Given the description of an element on the screen output the (x, y) to click on. 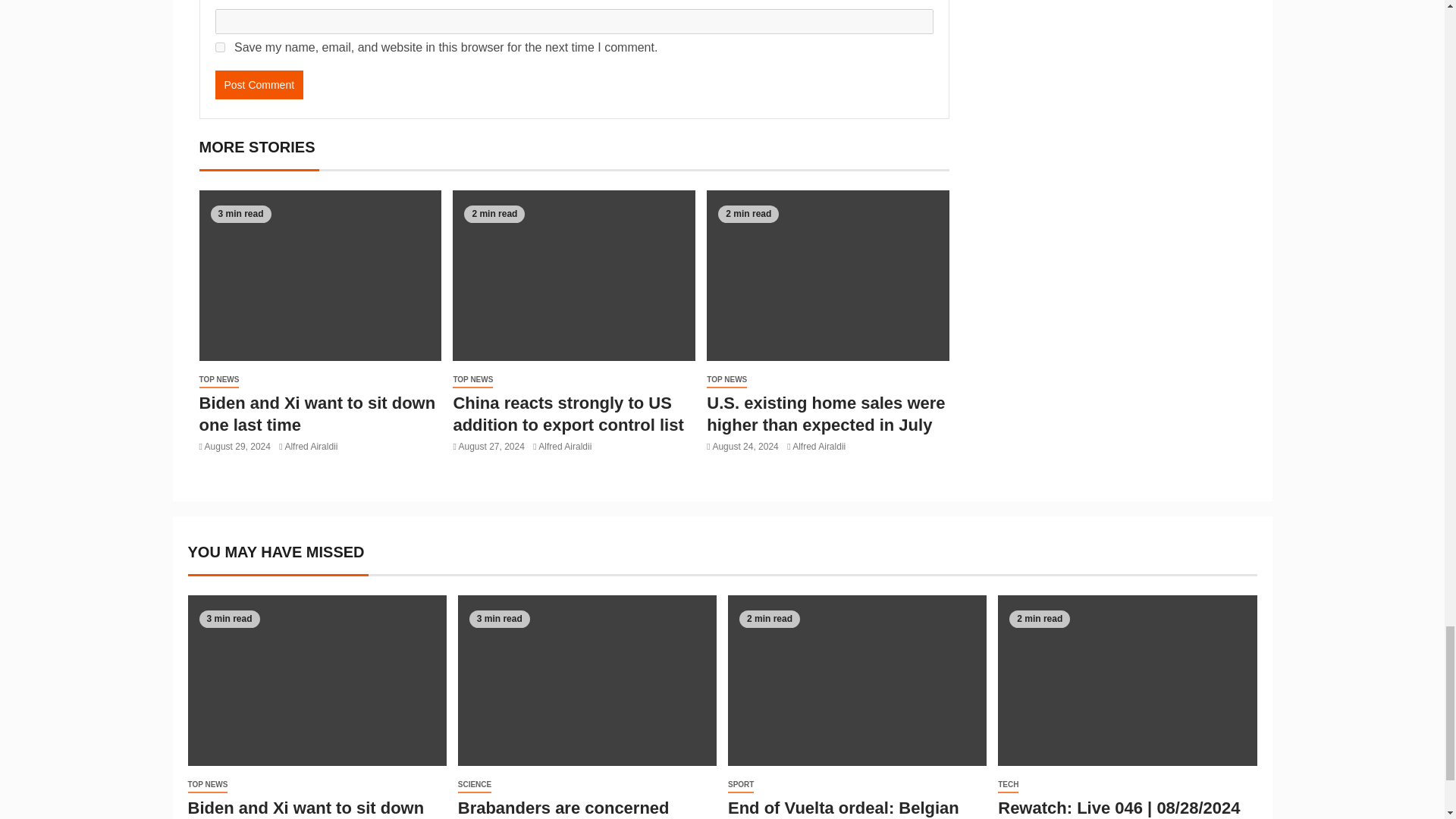
Biden and Xi want to sit down one last time (316, 413)
TOP NEWS (472, 380)
Alfred Airaldii (310, 446)
China reacts strongly to US addition to export control list (567, 413)
TOP NEWS (218, 380)
Post Comment (259, 84)
yes (220, 47)
Post Comment (259, 84)
